Given the description of an element on the screen output the (x, y) to click on. 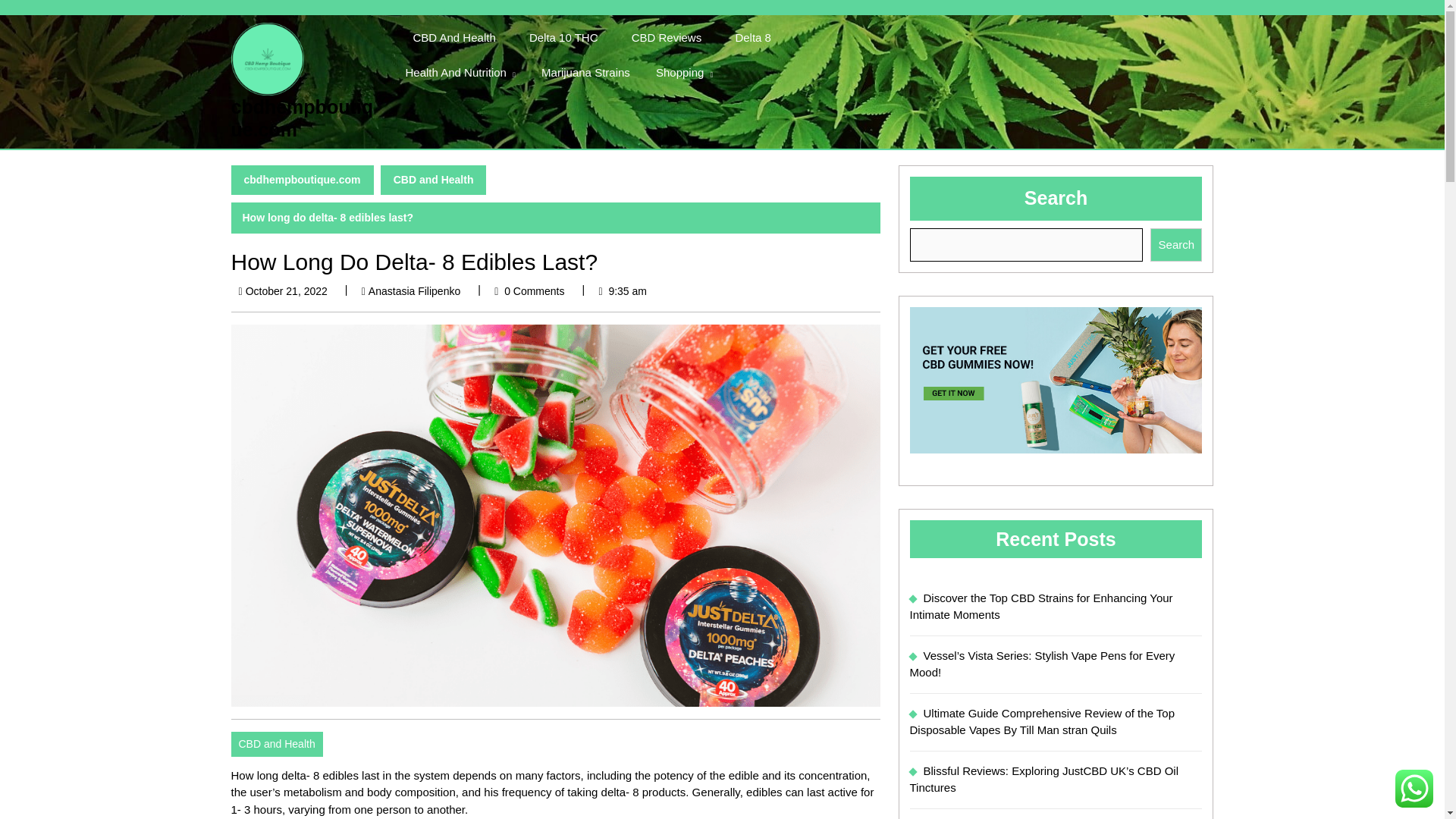
Marijuana Strains (585, 72)
Shopping (684, 72)
Delta 10 THC (563, 37)
cbdhempboutique.com (301, 179)
CBD and Health (433, 179)
Delta 8 (752, 37)
Health And Nutrition (459, 72)
cbdhempboutique.com (301, 118)
CBD and Health (275, 744)
CBD And Health (453, 37)
